Given the description of an element on the screen output the (x, y) to click on. 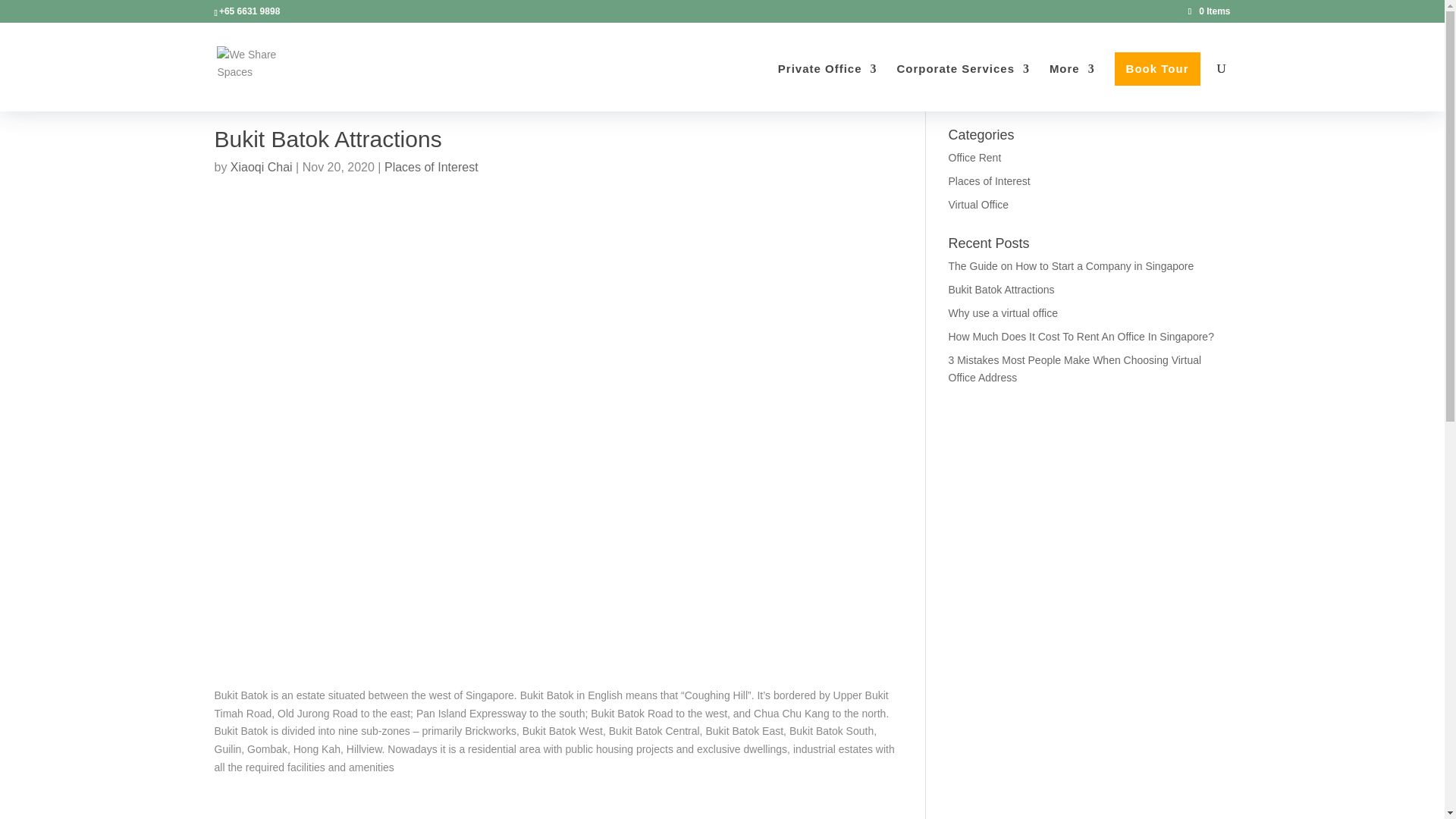
Corporate Services (962, 83)
Places of Interest (431, 166)
Posts by Xiaoqi Chai (261, 166)
Book Tour (1157, 68)
Private Office (827, 83)
0 Items (1209, 10)
Xiaoqi Chai (261, 166)
More (1071, 83)
